Given the description of an element on the screen output the (x, y) to click on. 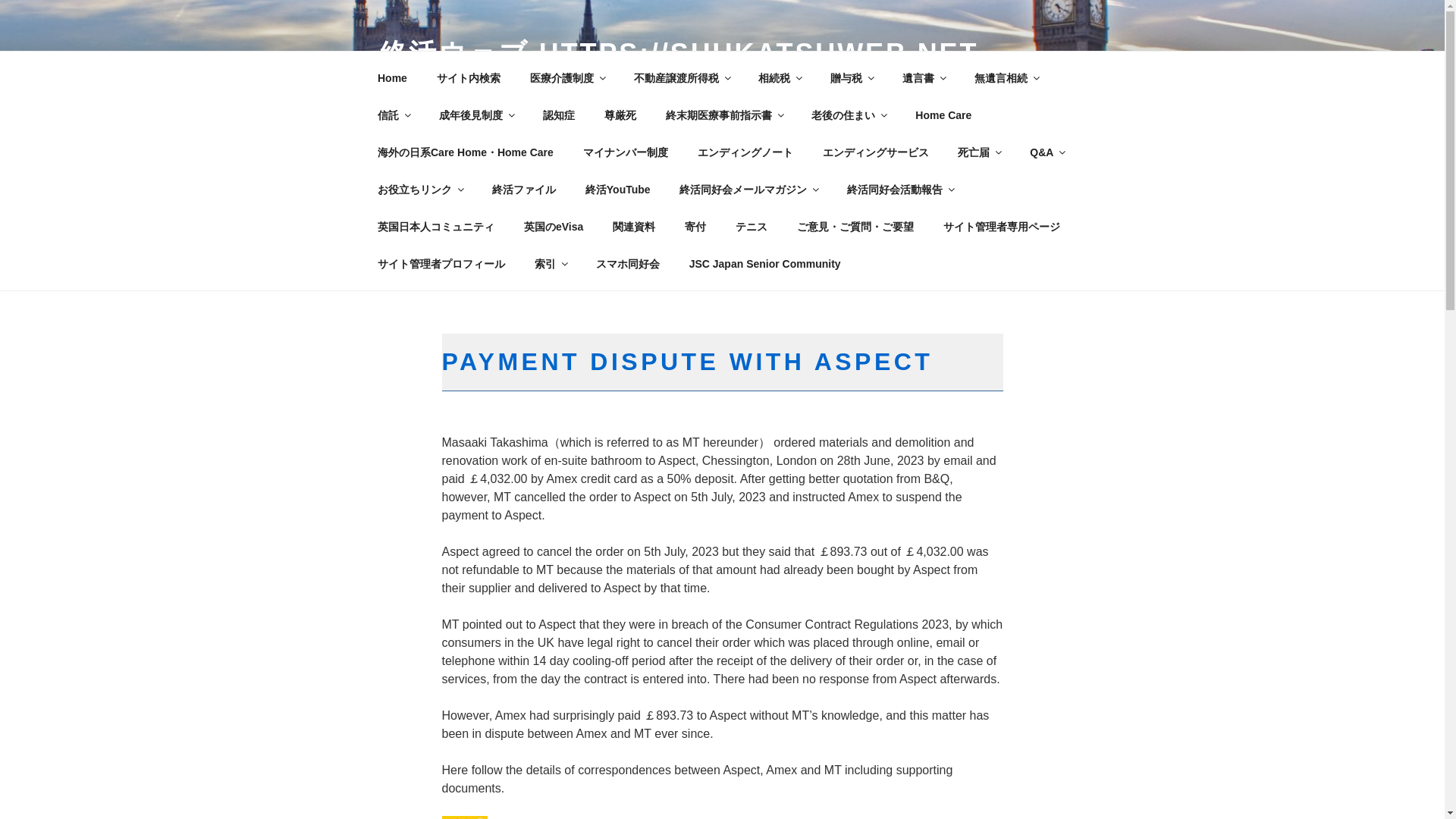
Home (392, 77)
